Given the description of an element on the screen output the (x, y) to click on. 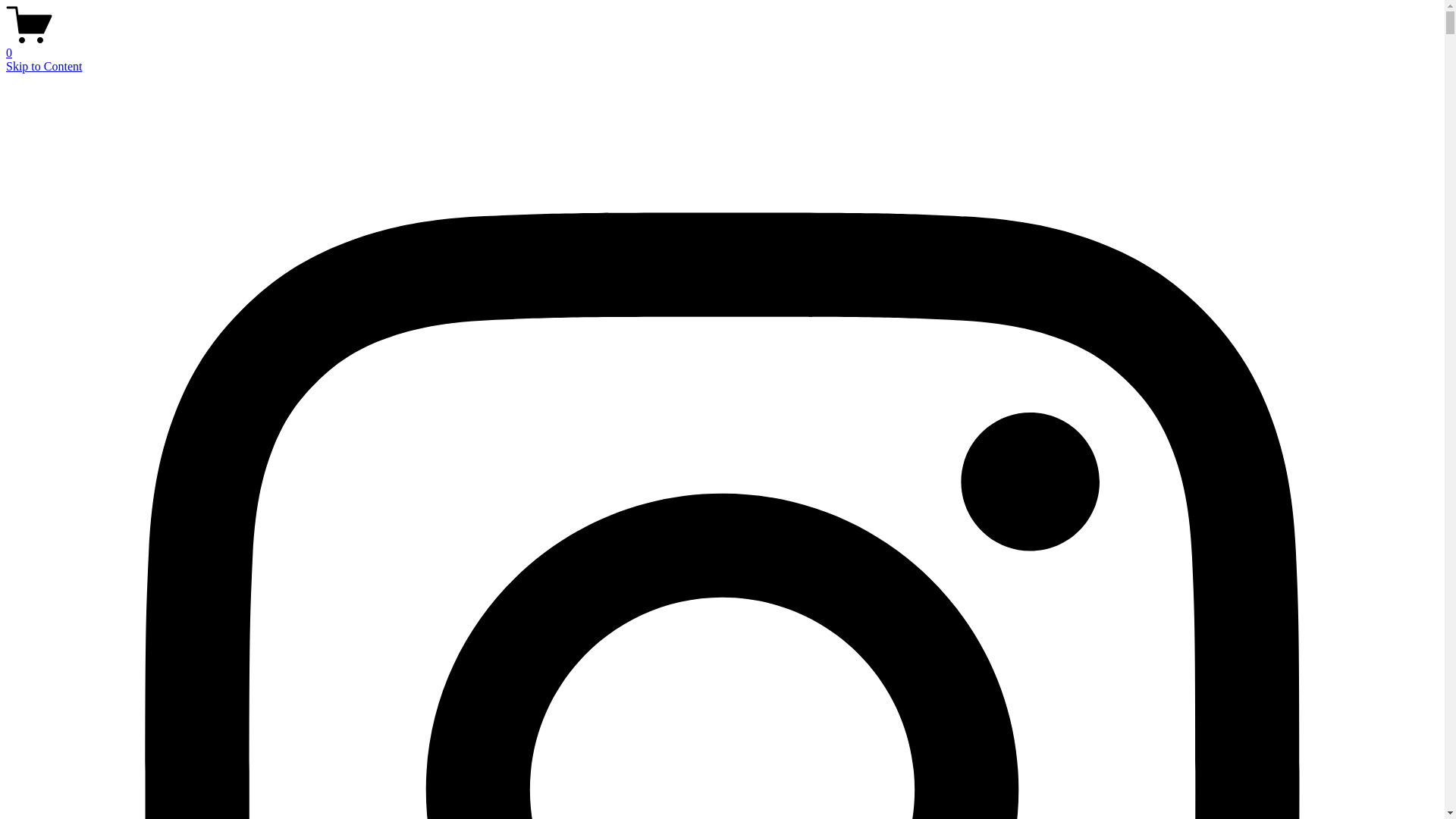
Skip to Content (43, 65)
